Given the description of an element on the screen output the (x, y) to click on. 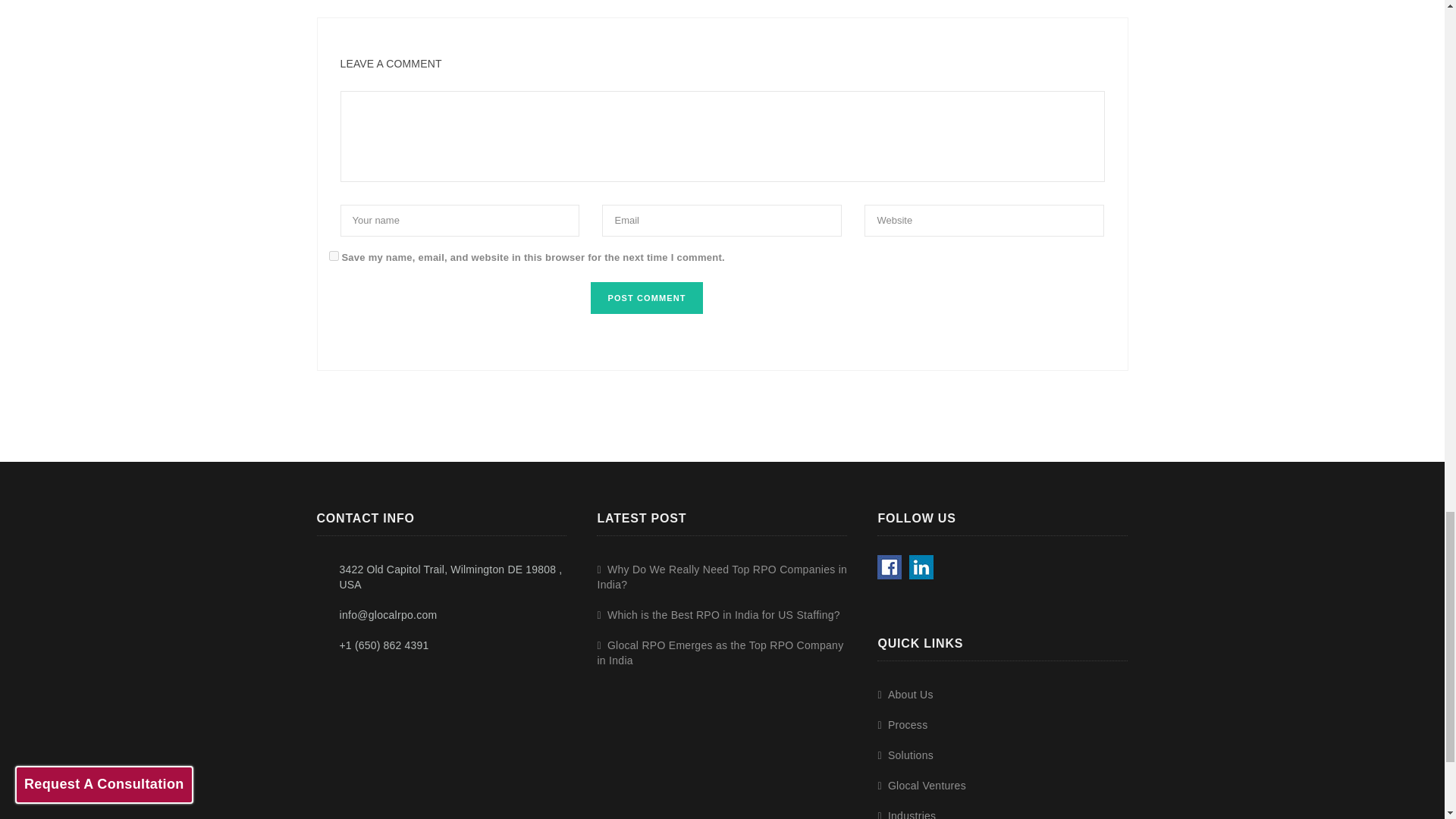
Website (983, 220)
Post Comment (646, 297)
Your name (459, 220)
LinkedIn (920, 567)
Email (721, 220)
Facebook (889, 567)
yes (334, 255)
